Given the description of an element on the screen output the (x, y) to click on. 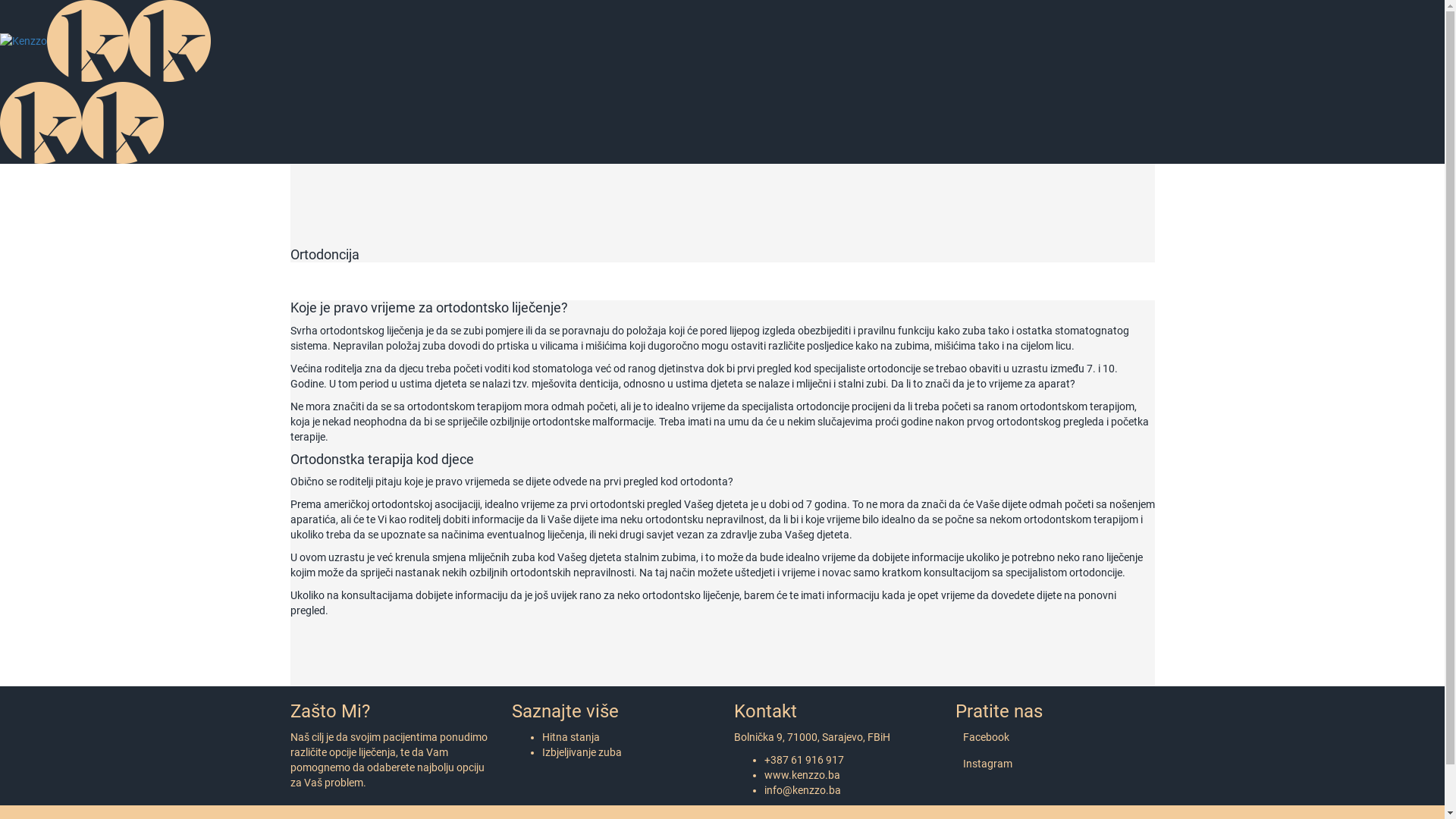
Hitna stanja Element type: text (570, 737)
info@kenzzo.ba Element type: text (802, 790)
Izbjeljivanje zuba Element type: text (581, 752)
www.kenzzo.ba Element type: text (802, 774)
